Given the description of an element on the screen output the (x, y) to click on. 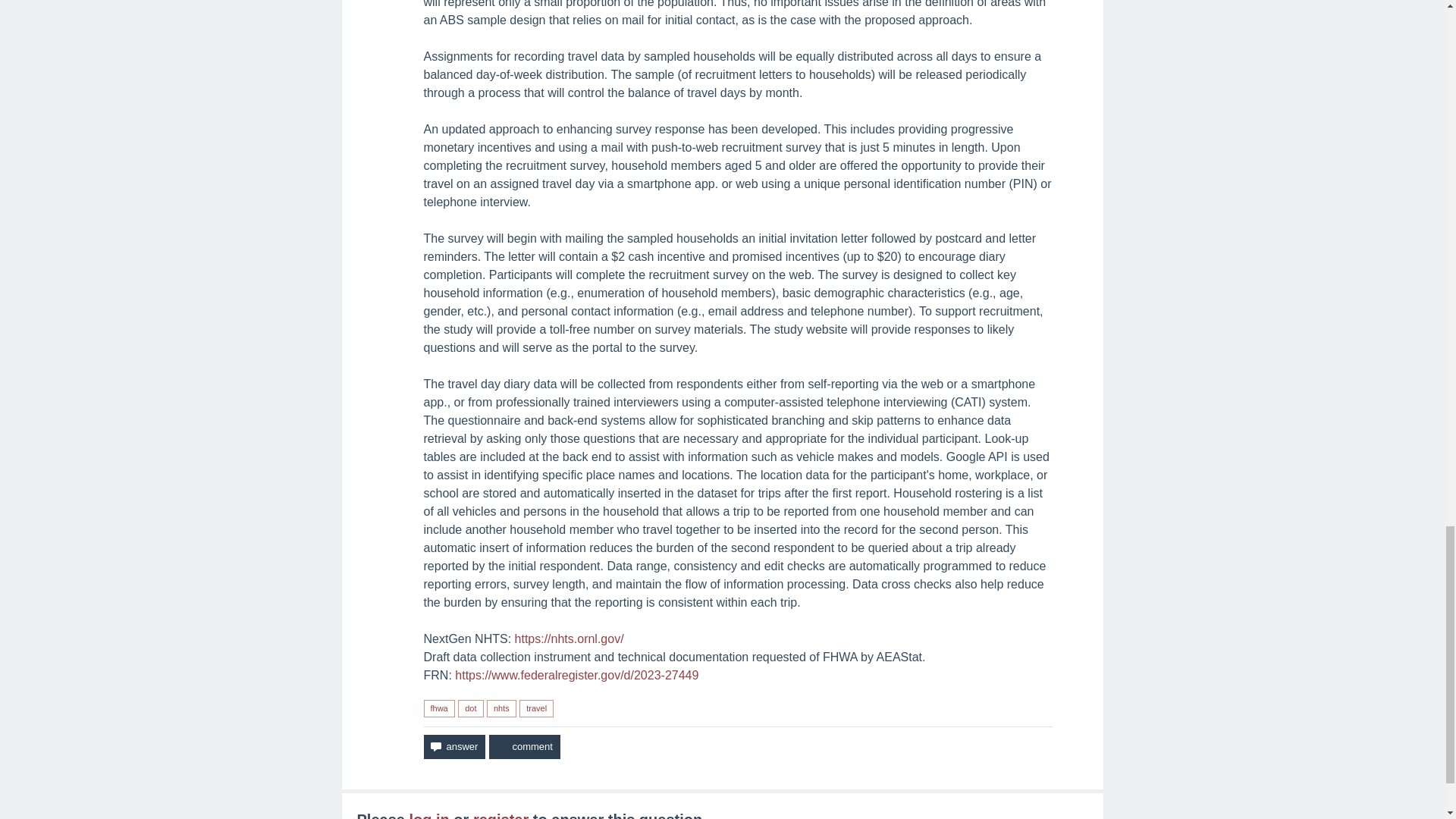
answer (453, 746)
fhwa (438, 708)
Answer this question (453, 746)
register (500, 815)
nhts (501, 708)
Add a comment on this question (524, 746)
comment (524, 746)
travel (536, 708)
answer (453, 746)
log in (428, 815)
